Given the description of an element on the screen output the (x, y) to click on. 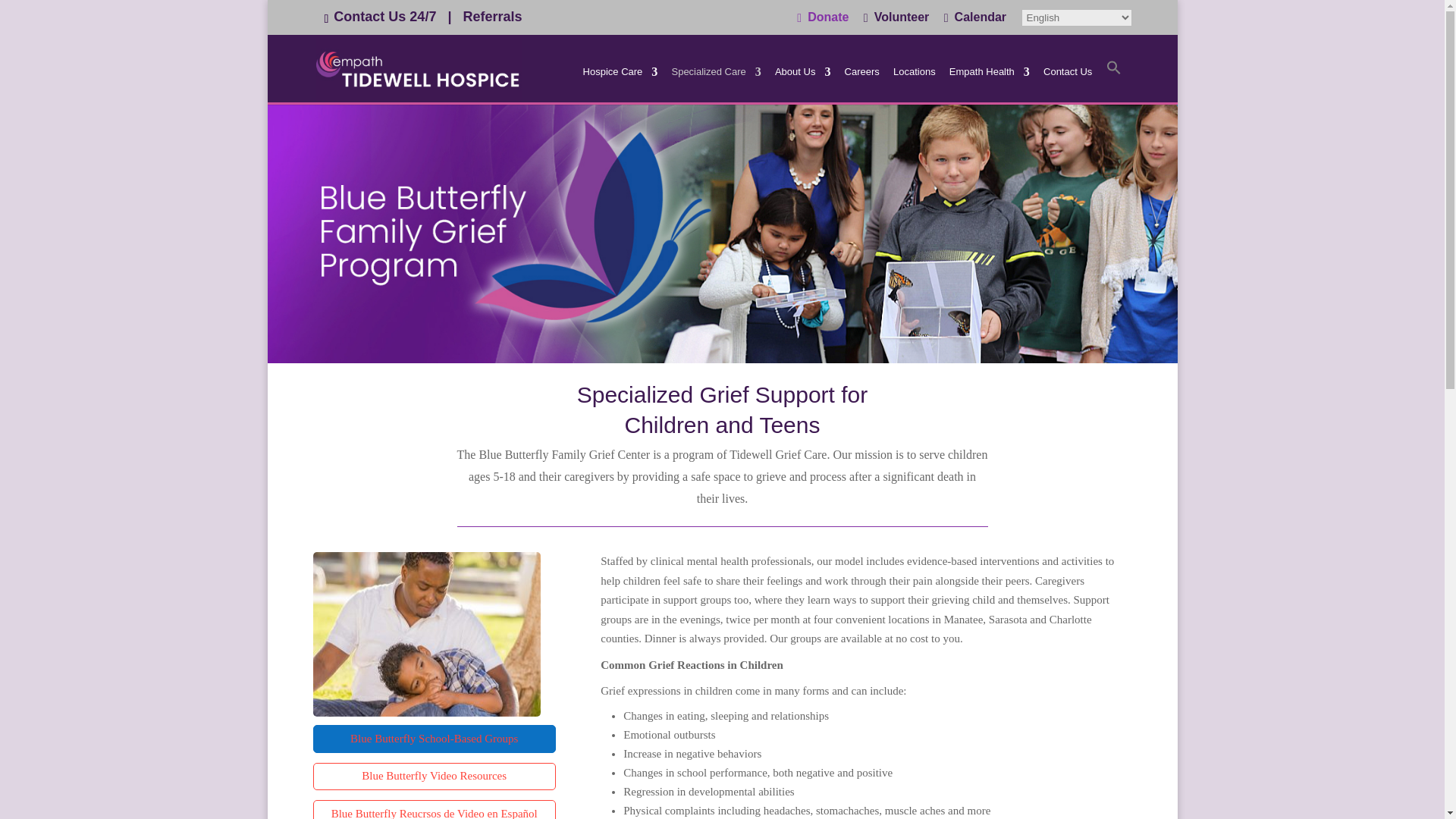
Locations (914, 84)
Empath Health (989, 84)
About Us (801, 84)
  Referrals (487, 16)
BB CTA (426, 634)
Calendar (974, 22)
Careers (861, 84)
Specialized Care (715, 84)
Donate (822, 22)
Hospice Care (620, 84)
Volunteer (895, 22)
